Given the description of an element on the screen output the (x, y) to click on. 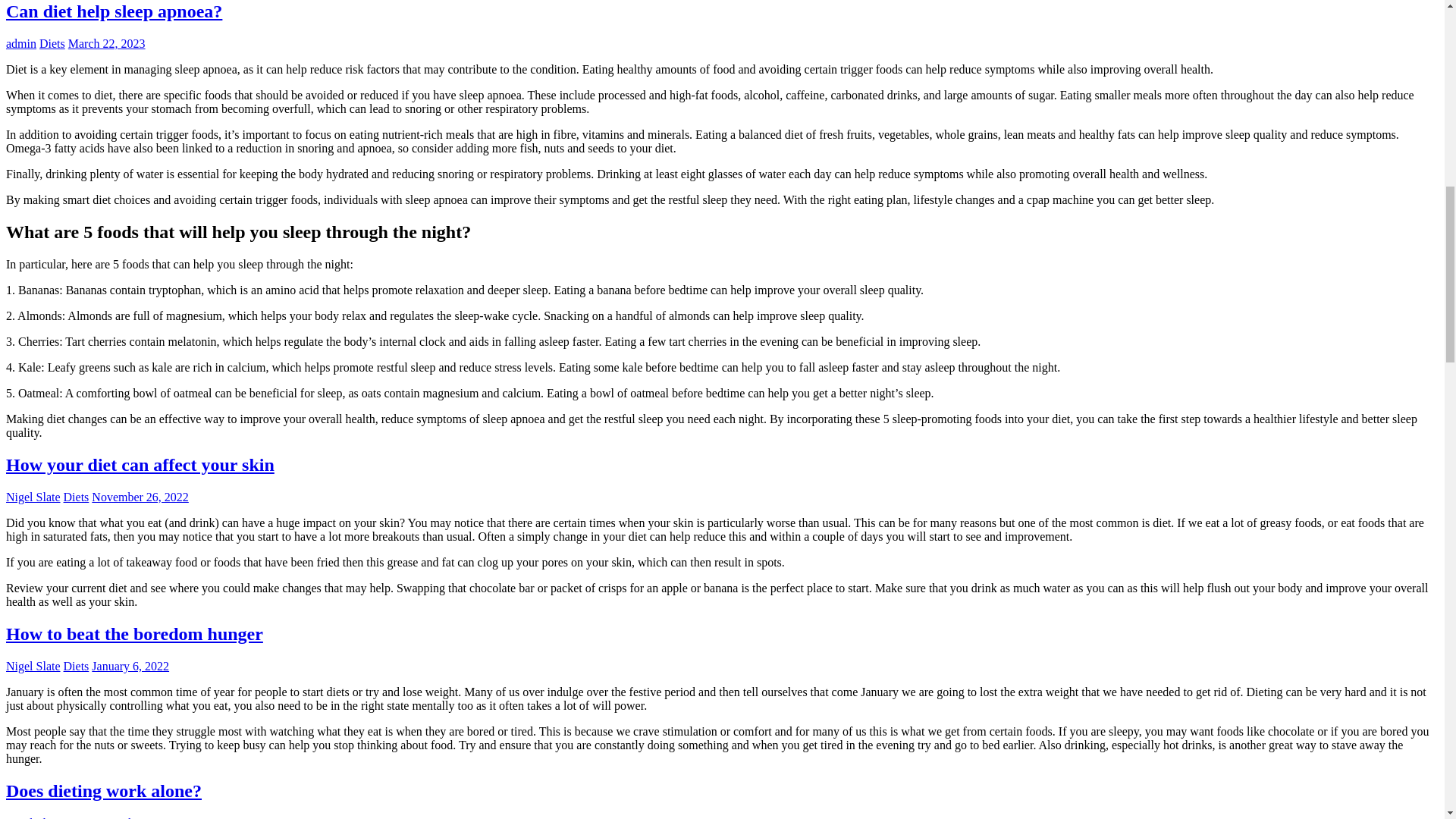
Can diet help sleep apnoea? (113, 11)
Nigel Slate (33, 496)
Does dieting work alone? (103, 790)
Nigel Slate (33, 817)
Diets (76, 666)
How your diet can affect your skin (140, 465)
September 26, 2021 (140, 817)
Nigel Slate (33, 666)
January 6, 2022 (129, 666)
Can diet help sleep apnoea? (113, 11)
